Given the description of an element on the screen output the (x, y) to click on. 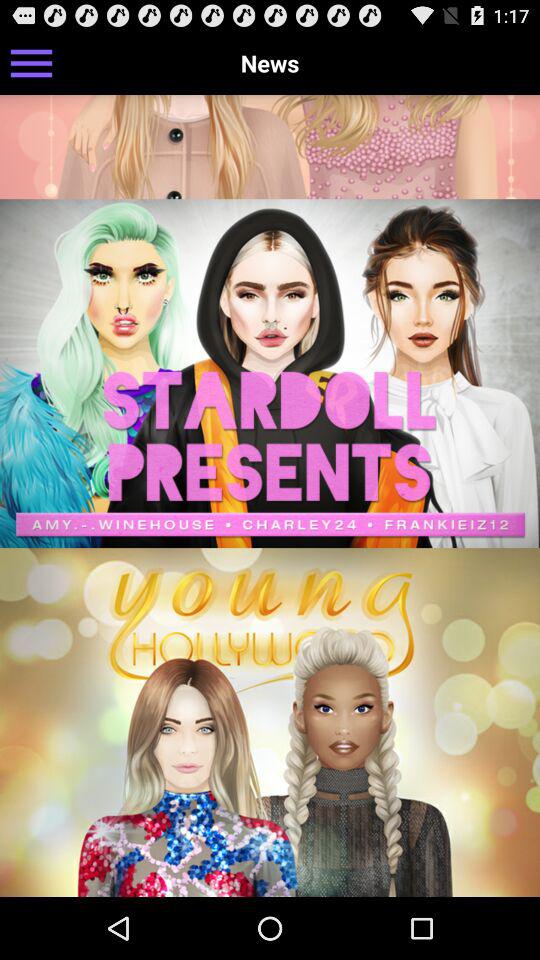
turn on the icon next to news item (31, 62)
